Given the description of an element on the screen output the (x, y) to click on. 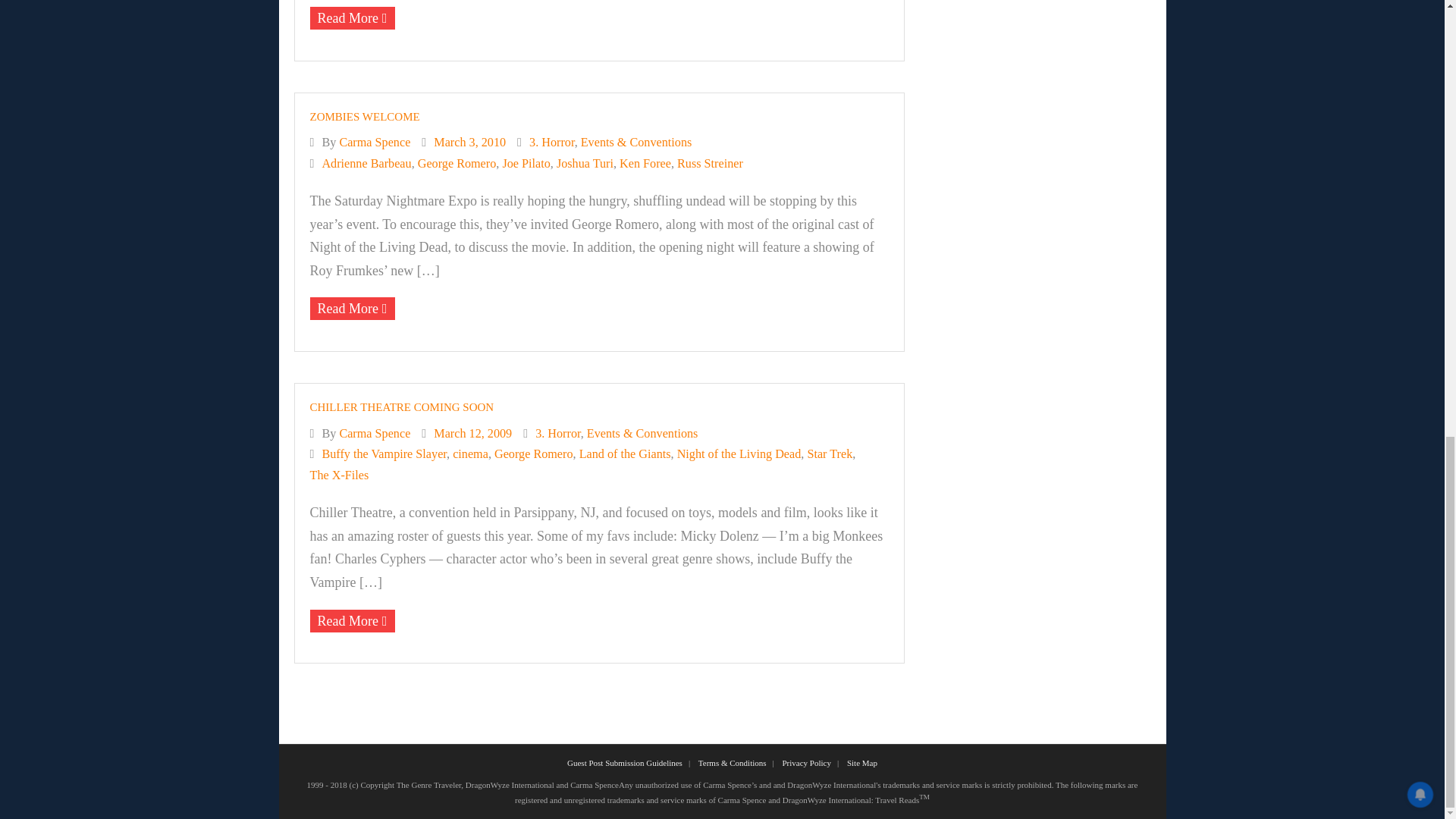
Zombies Welcome (469, 142)
Chiller Theatre Coming Soon (472, 433)
Permalink to Chiller Theatre Coming Soon (400, 407)
View all posts by Carma Spence (374, 433)
Permalink to Zombies Welcome (363, 116)
View all posts by Carma Spence (374, 142)
